Given the description of an element on the screen output the (x, y) to click on. 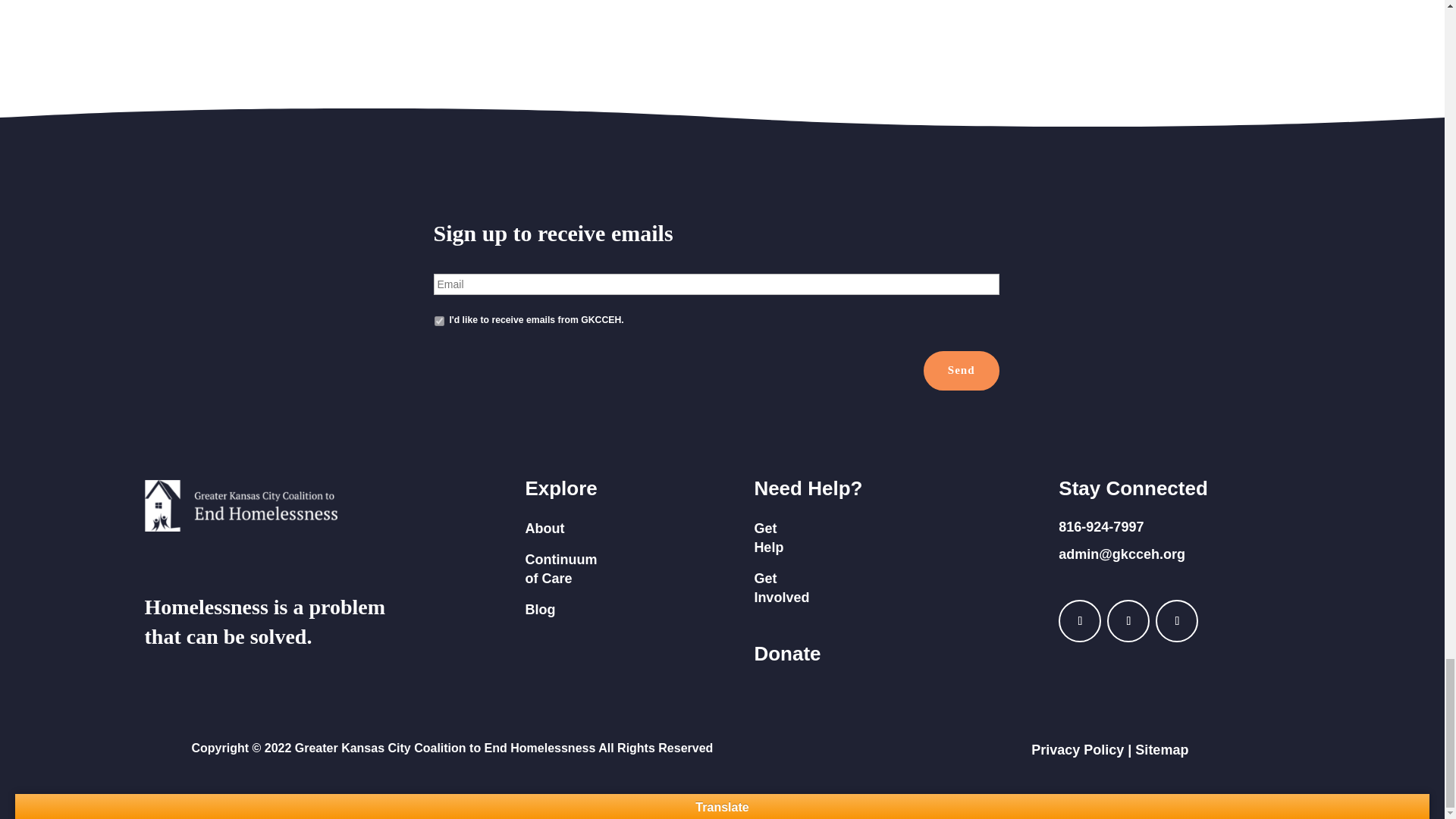
Send (960, 370)
Follow on X (1177, 620)
Follow on Facebook (1079, 620)
true (438, 320)
Follow on Instagram (1128, 620)
